Given the description of an element on the screen output the (x, y) to click on. 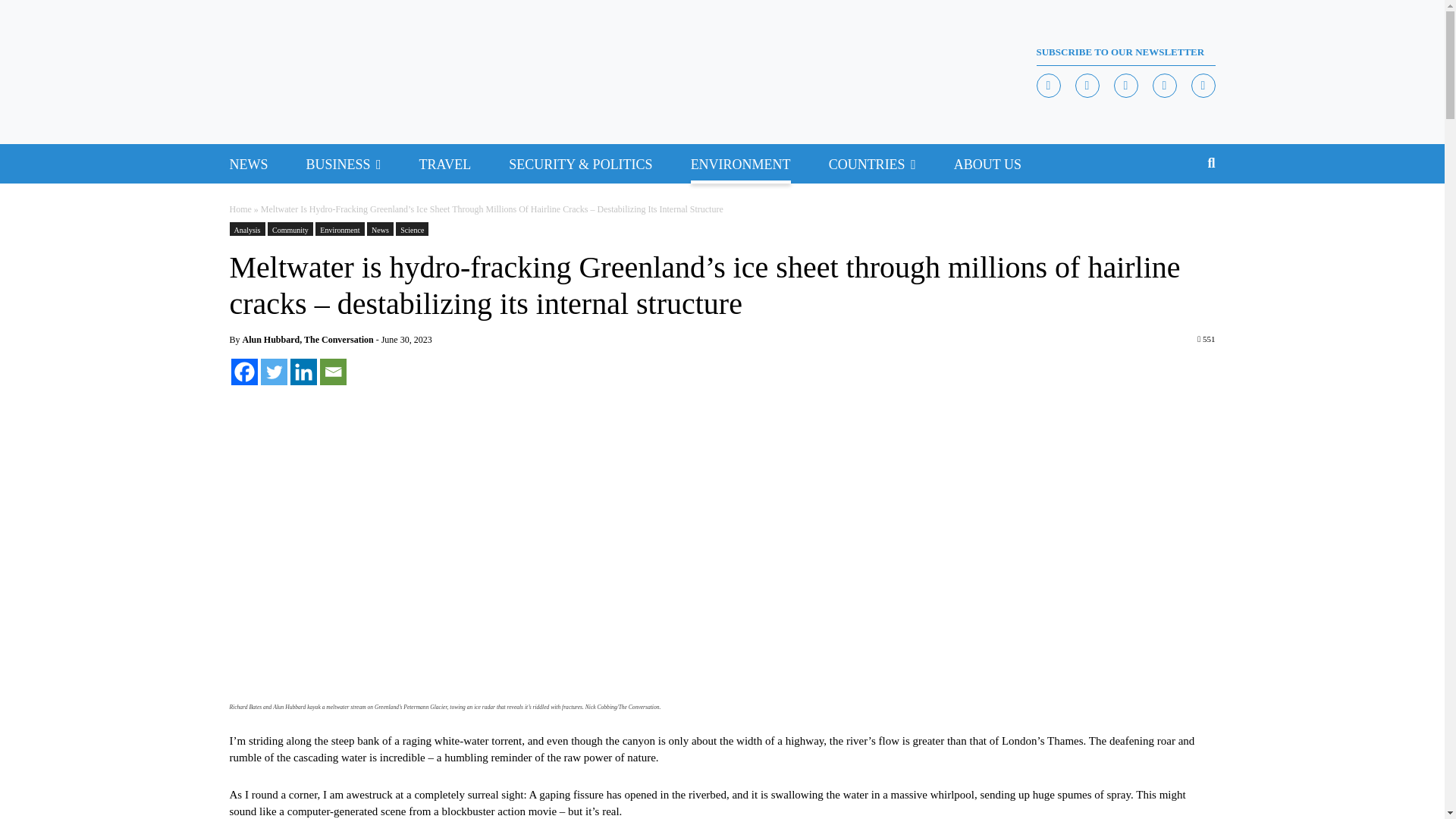
BUSINESS (338, 163)
SUBSCRIBE TO OUR NEWSLETTER (1124, 51)
NEWS (247, 163)
